Given the description of an element on the screen output the (x, y) to click on. 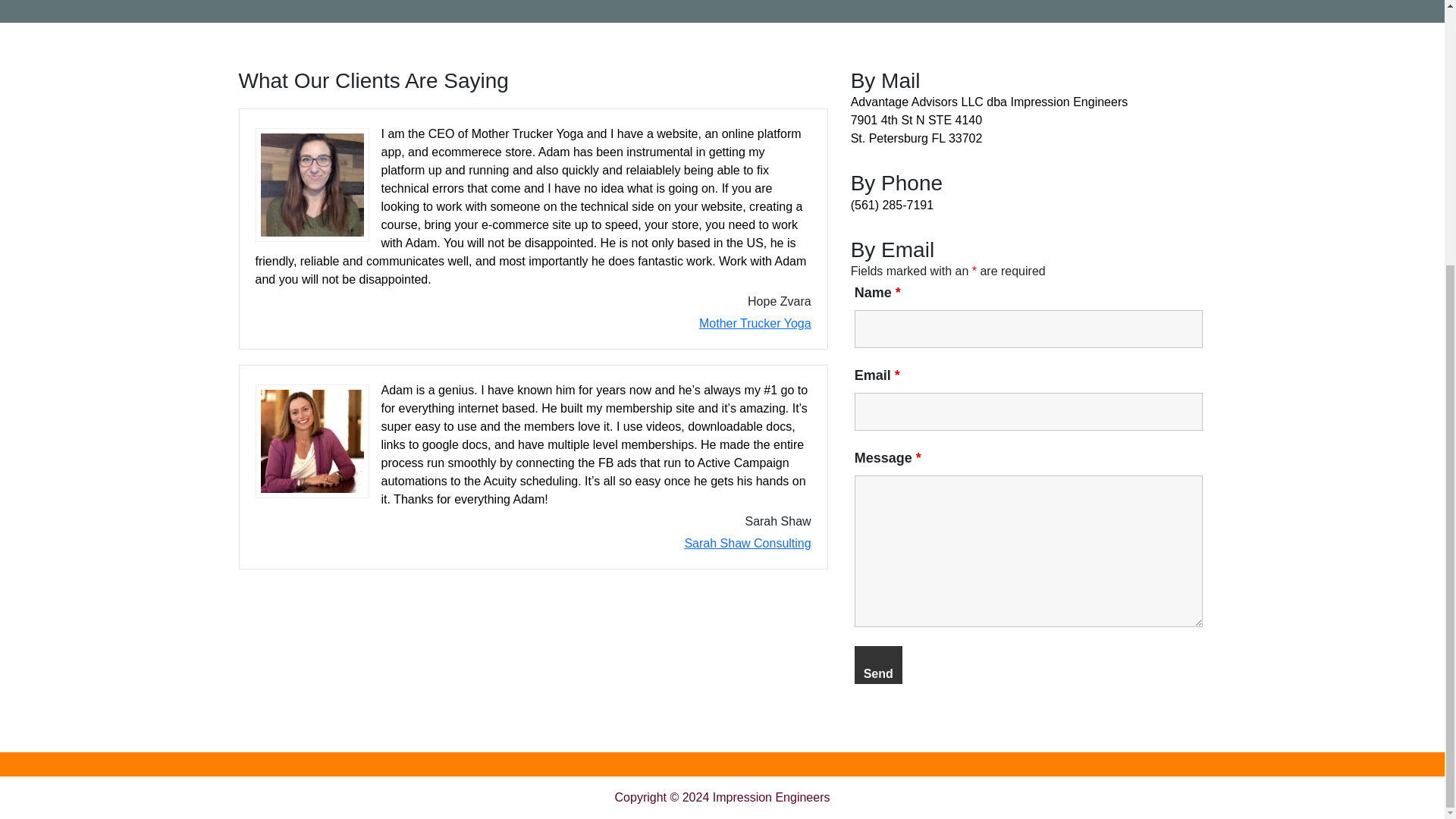
Mother Trucker Yoga (754, 323)
Send (878, 664)
Send (878, 664)
Sarah Shaw Consulting (747, 543)
